Given the description of an element on the screen output the (x, y) to click on. 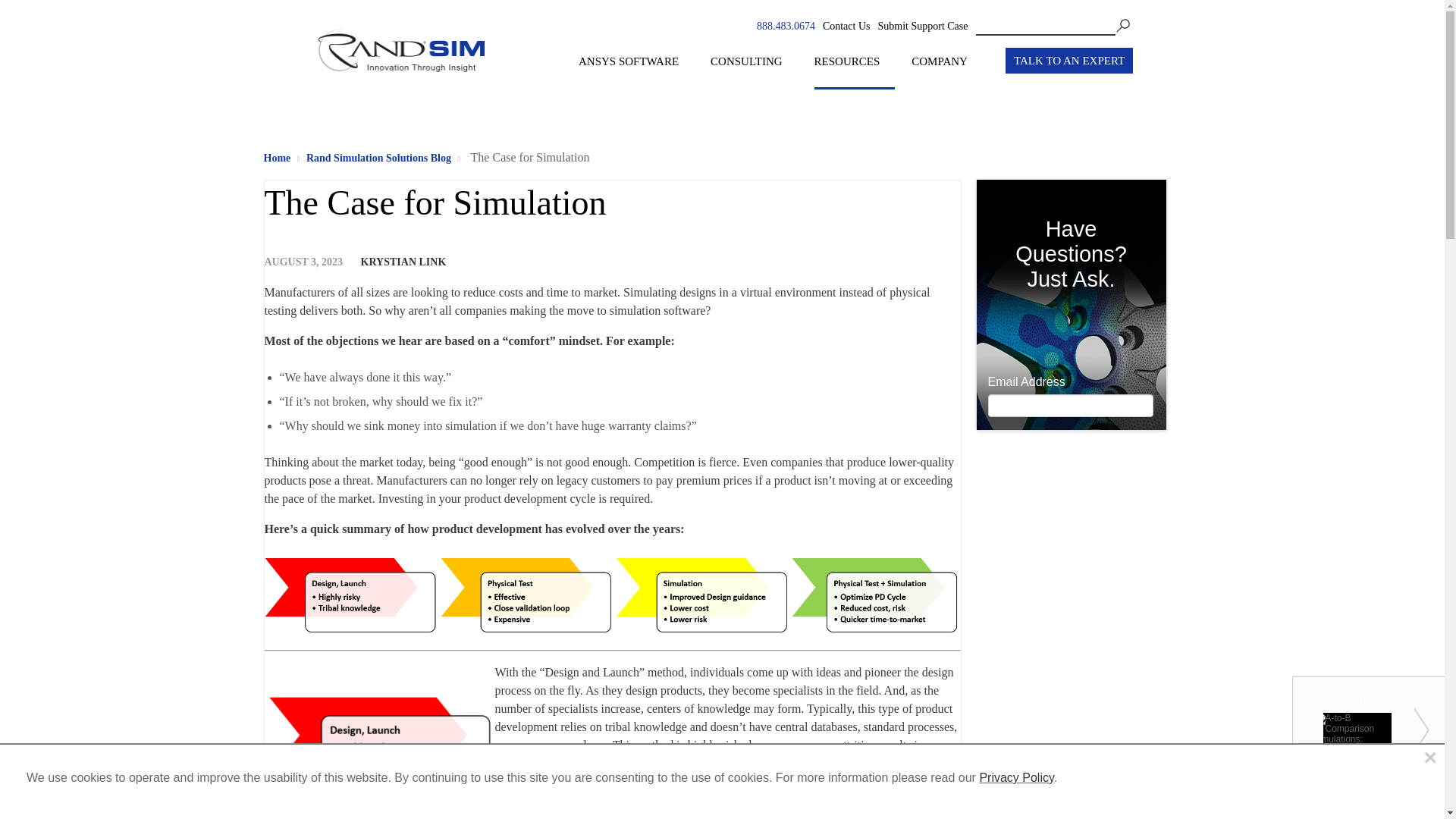
Technical Support (922, 25)
Rand SIM (400, 82)
Submit Support Case (922, 26)
ANSYS SOFTWARE (636, 70)
888.483.0674 (786, 26)
Contact Us (846, 25)
RESOURCES (854, 70)
Search Site (1053, 25)
888-483-0674 (786, 25)
CONSULTING (753, 70)
